Given the description of an element on the screen output the (x, y) to click on. 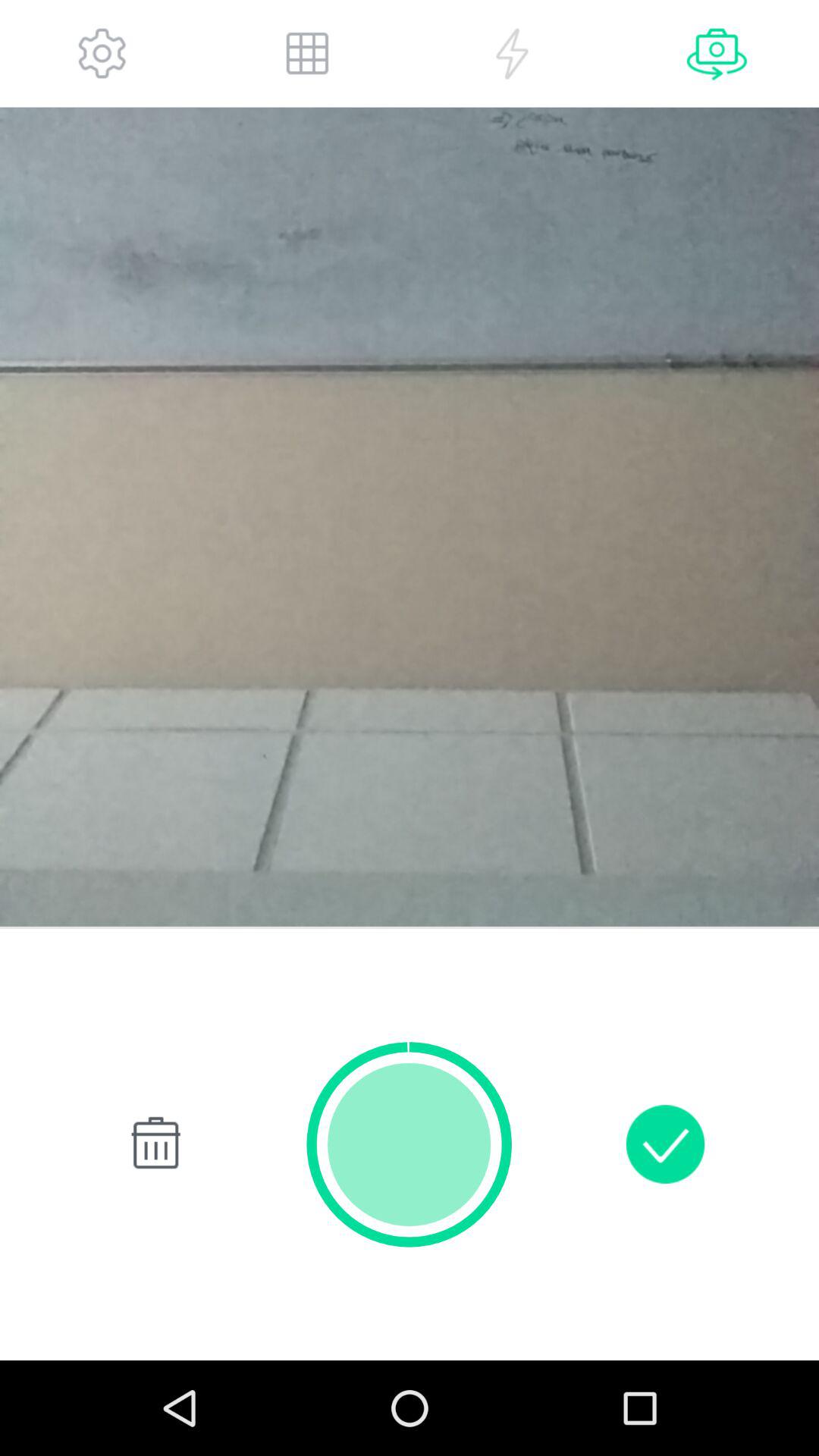
accept (665, 1144)
